Given the description of an element on the screen output the (x, y) to click on. 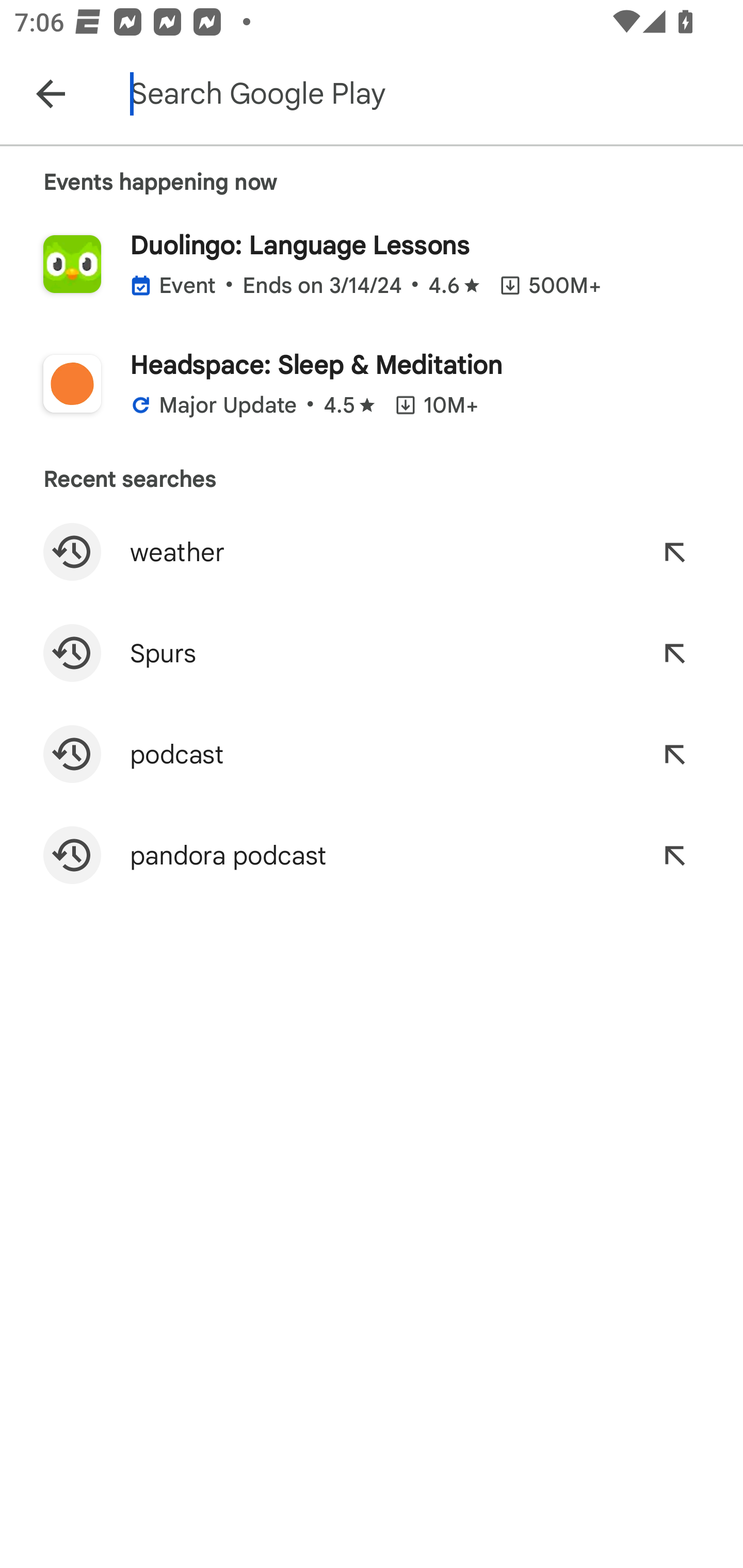
Navigate up (50, 93)
Search Google Play (432, 93)
Search for "weather"  Refine search to "weather" (371, 551)
Refine search to "weather" (673, 551)
Search for "Spurs"  Refine search to "Spurs" (371, 653)
Refine search to "Spurs" (673, 653)
Search for "podcast"  Refine search to "podcast" (371, 754)
Refine search to "podcast" (673, 754)
Refine search to "pandora podcast" (673, 855)
